Given the description of an element on the screen output the (x, y) to click on. 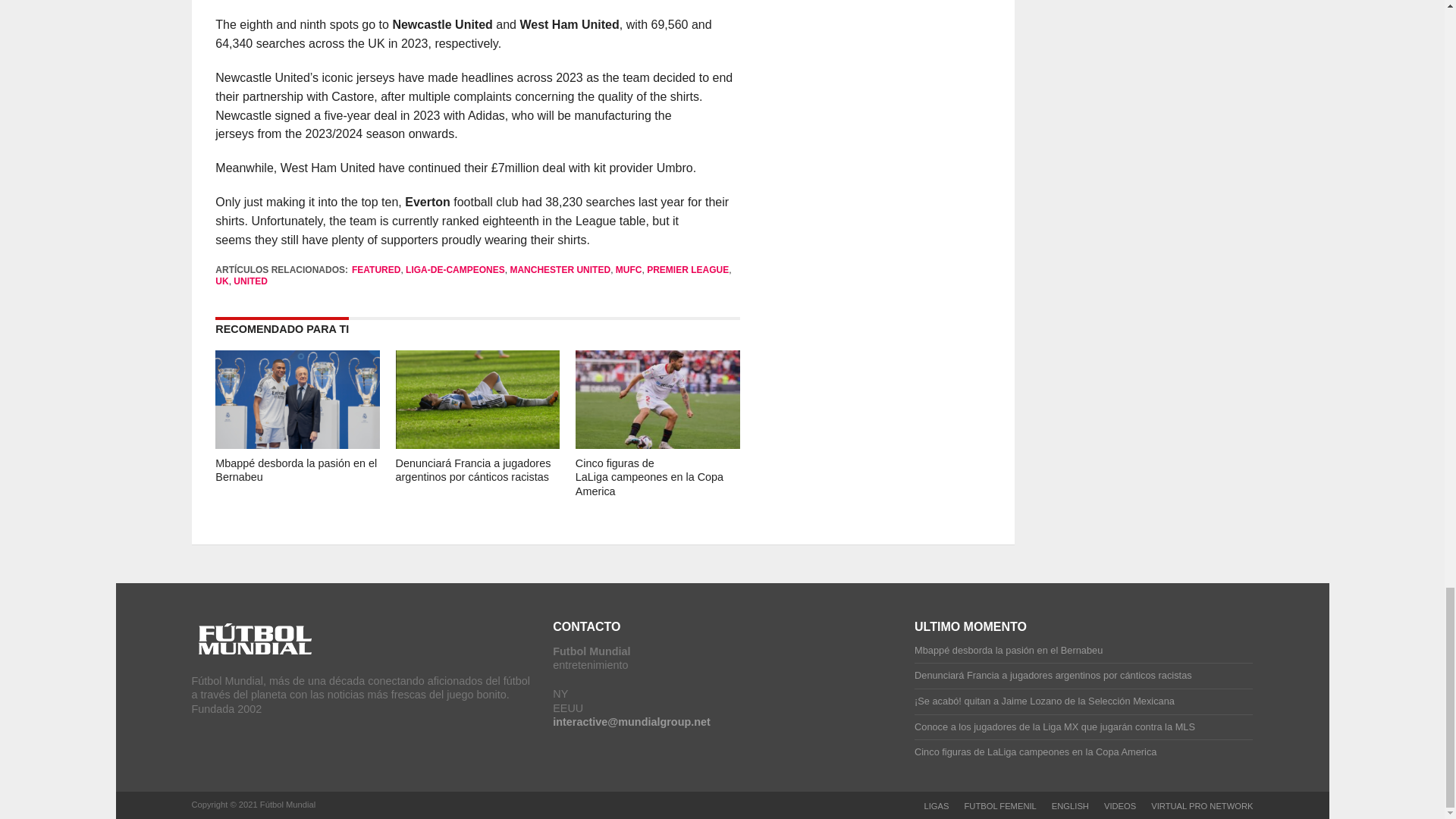
Cinco figuras de LaLiga campeones en la Copa America (649, 477)
FEATURED (376, 269)
MUFC (628, 269)
UK (221, 281)
PREMIER LEAGUE (687, 269)
LIGA-DE-CAMPEONES (455, 269)
MANCHESTER UNITED (559, 269)
UNITED (249, 281)
